Given the description of an element on the screen output the (x, y) to click on. 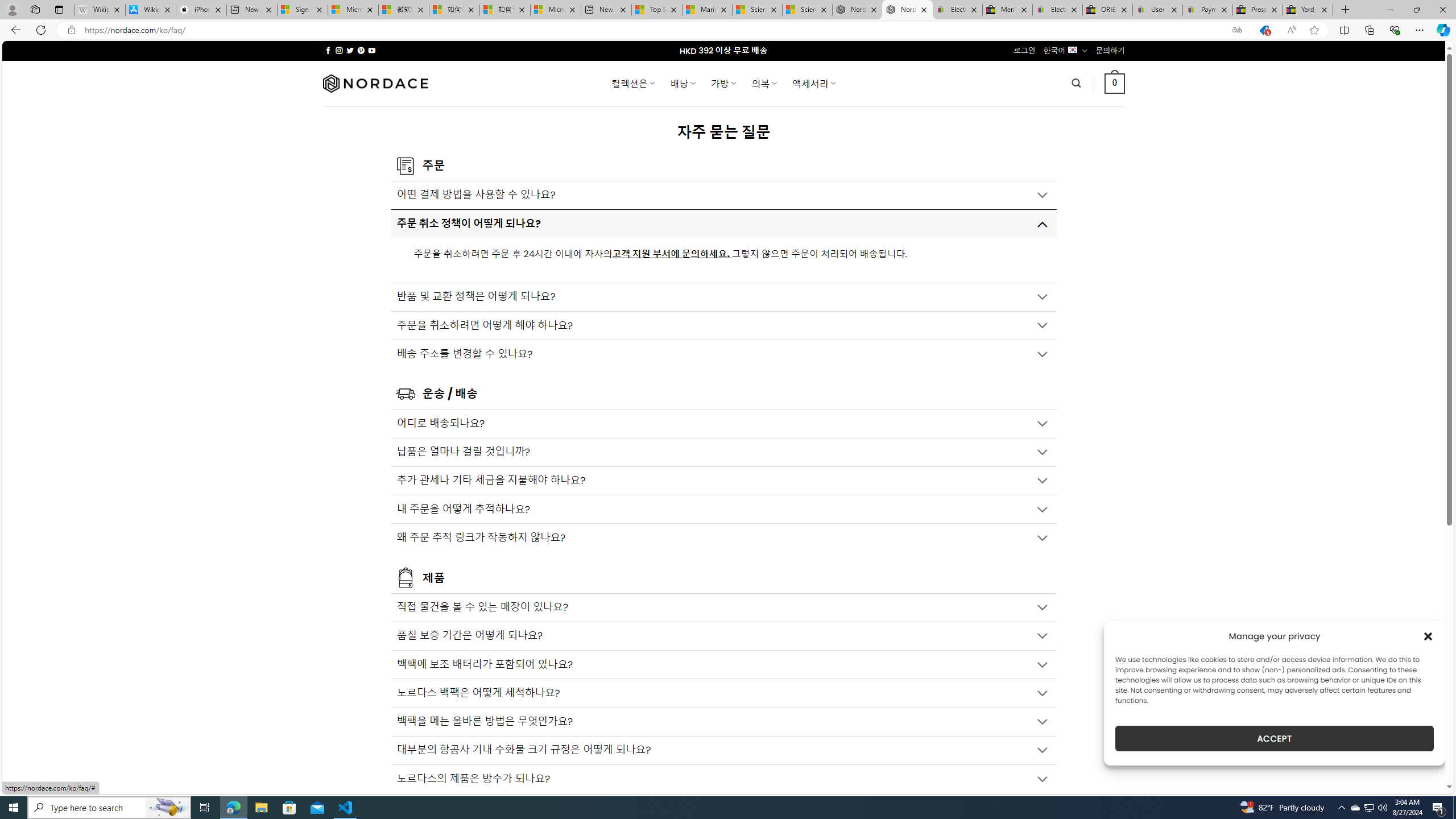
User Privacy Notice | eBay (1158, 9)
Follow on Facebook (327, 50)
